Given the description of an element on the screen output the (x, y) to click on. 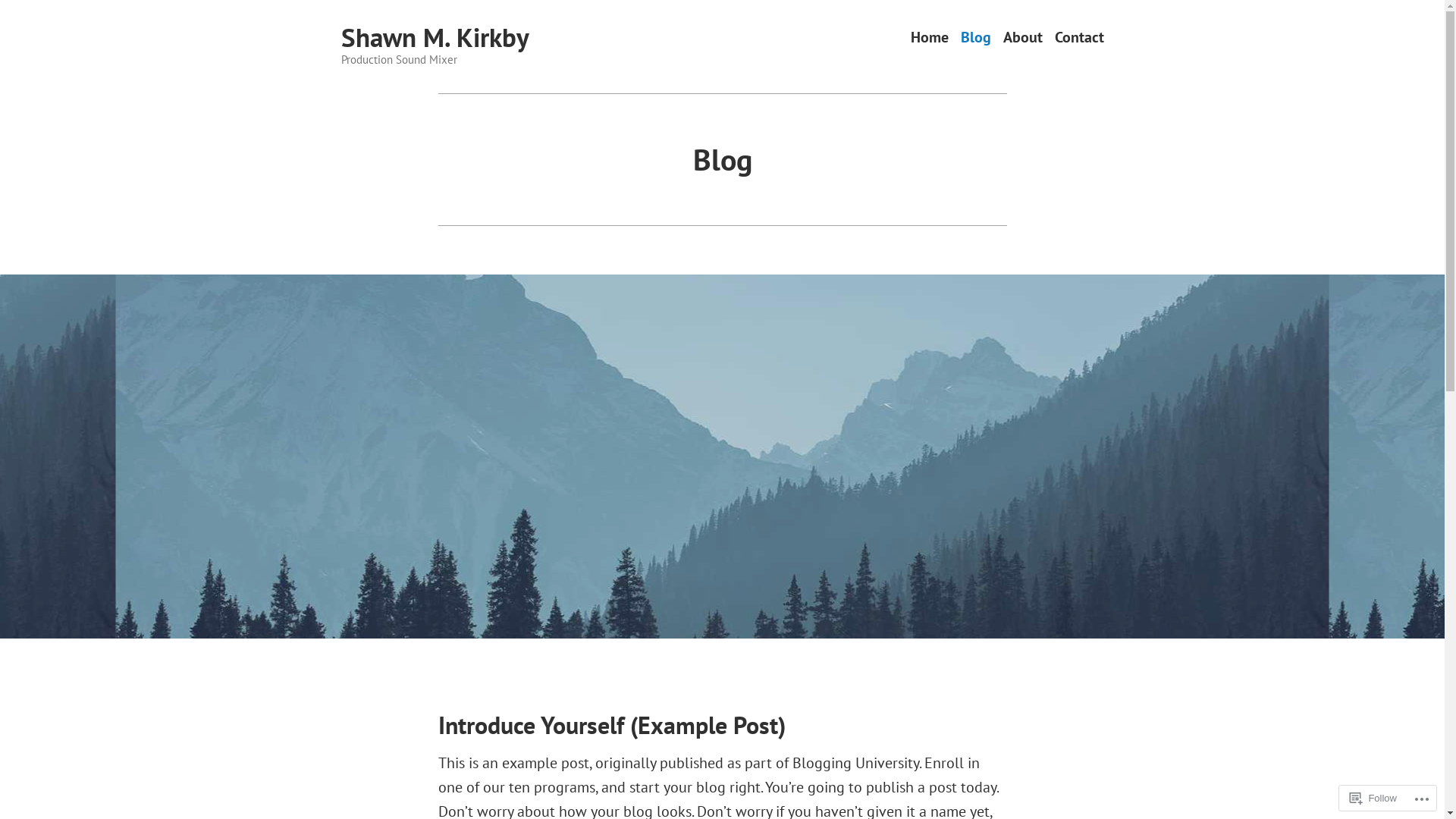
Contact Element type: text (1078, 37)
Follow Element type: text (1372, 797)
Home Element type: text (928, 37)
Shawn M. Kirkby Element type: text (435, 36)
Blog Element type: text (975, 37)
About Element type: text (1021, 37)
Introduce Yourself (Example Post) Element type: text (611, 724)
